Given the description of an element on the screen output the (x, y) to click on. 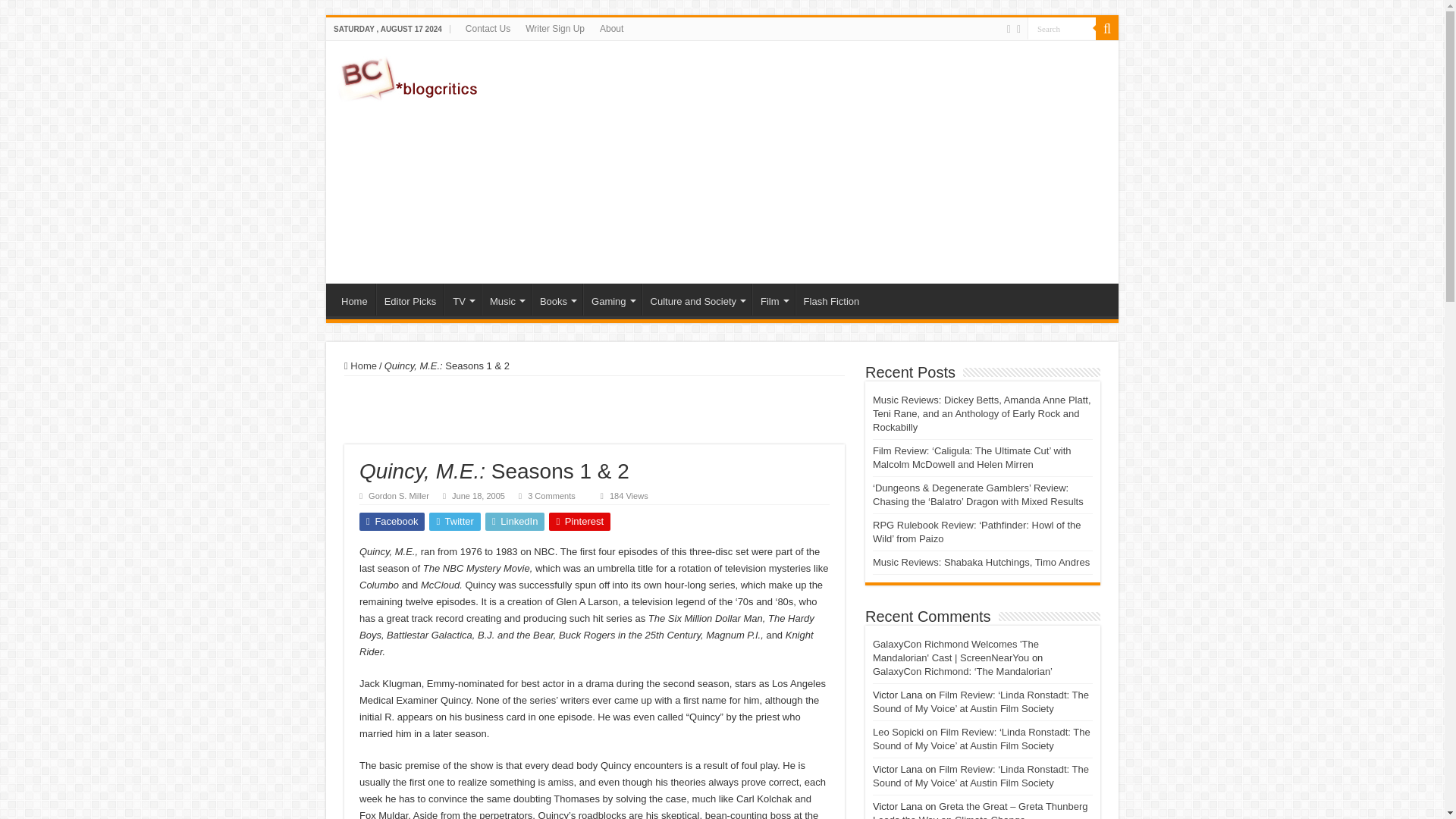
Search (1061, 28)
Blogcritics (409, 75)
Search (1061, 28)
Advertisement (830, 162)
Search (1061, 28)
